Given the description of an element on the screen output the (x, y) to click on. 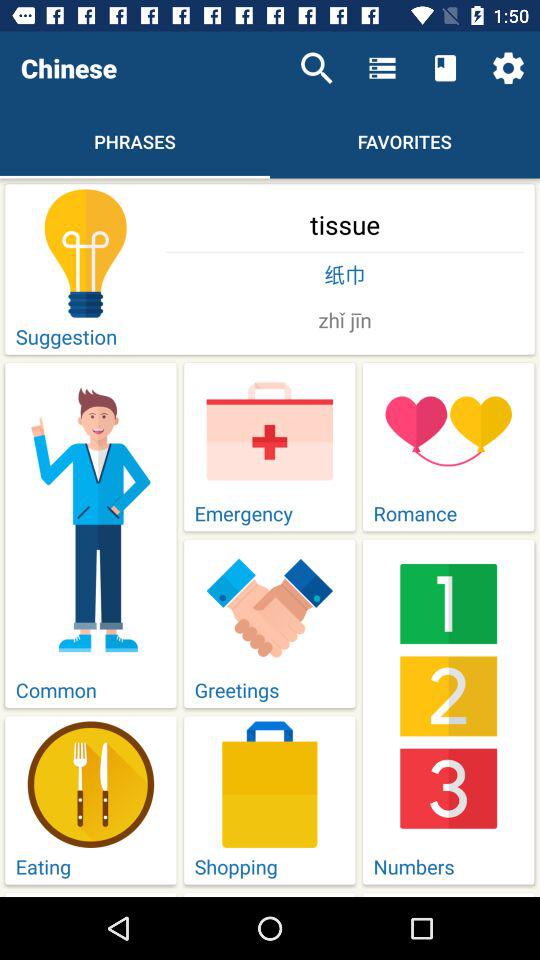
launch the item above the favorites (444, 67)
